Given the description of an element on the screen output the (x, y) to click on. 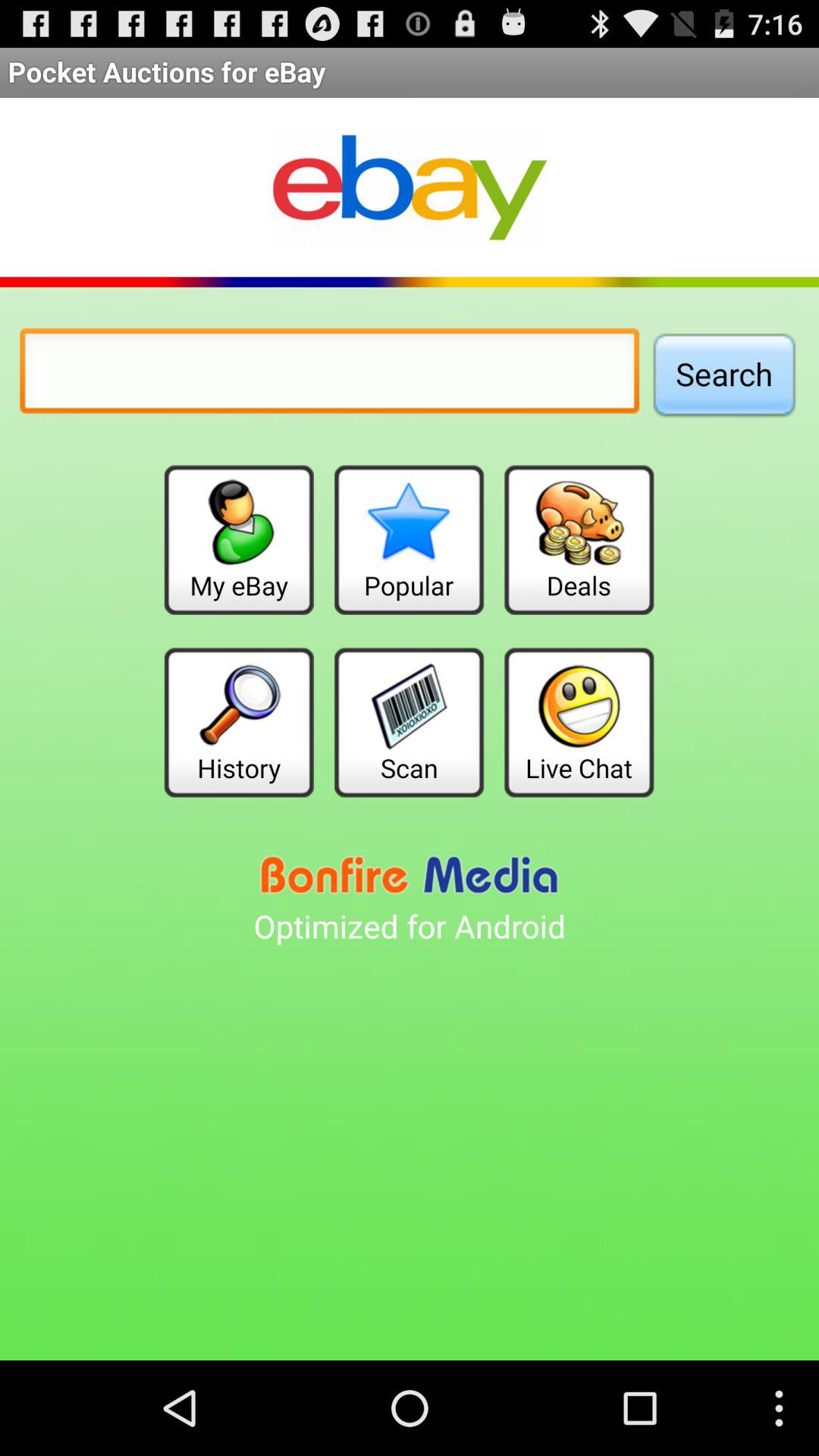
turn on icon to the right of scan item (579, 722)
